Given the description of an element on the screen output the (x, y) to click on. 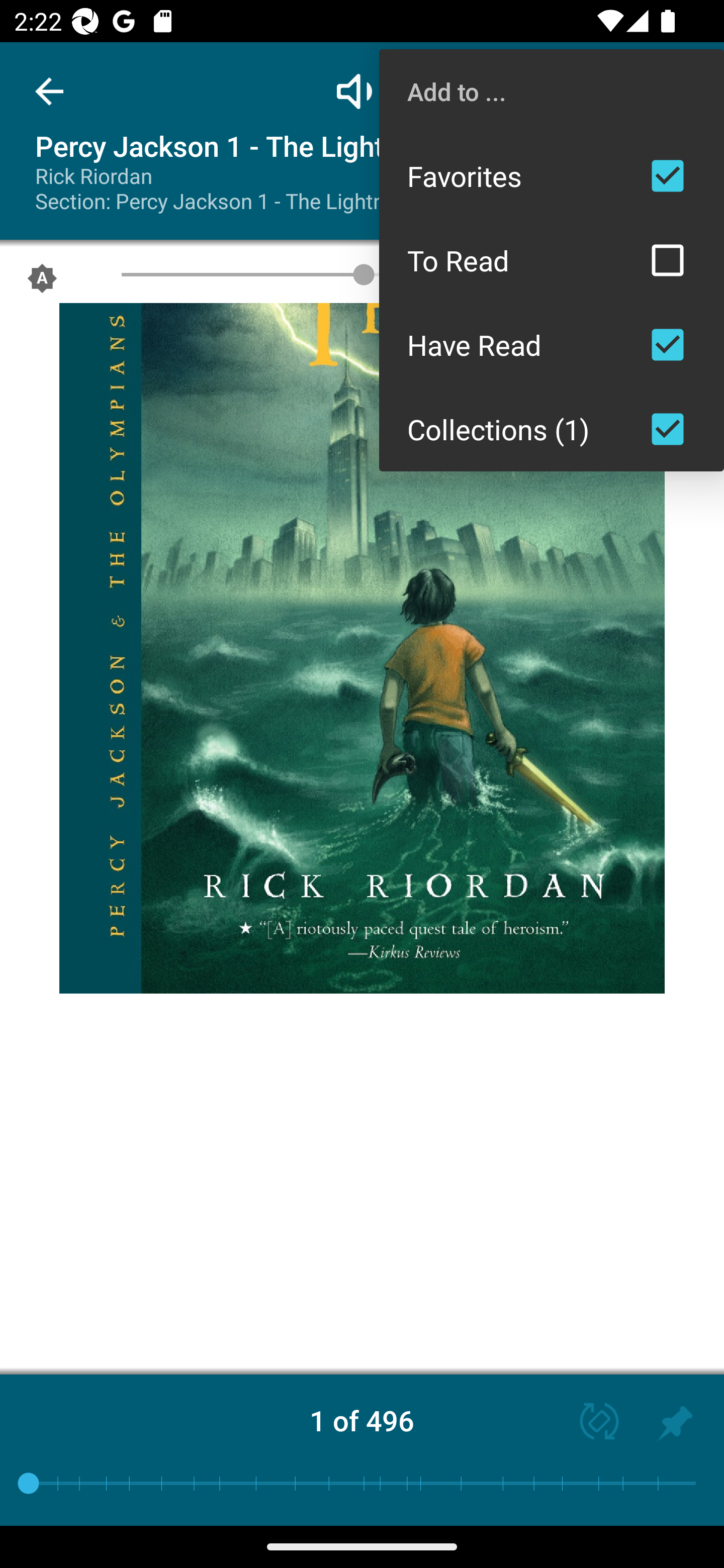
Favorites (551, 175)
To Read (551, 259)
Have Read (551, 344)
Collections (1) (551, 429)
